Given the description of an element on the screen output the (x, y) to click on. 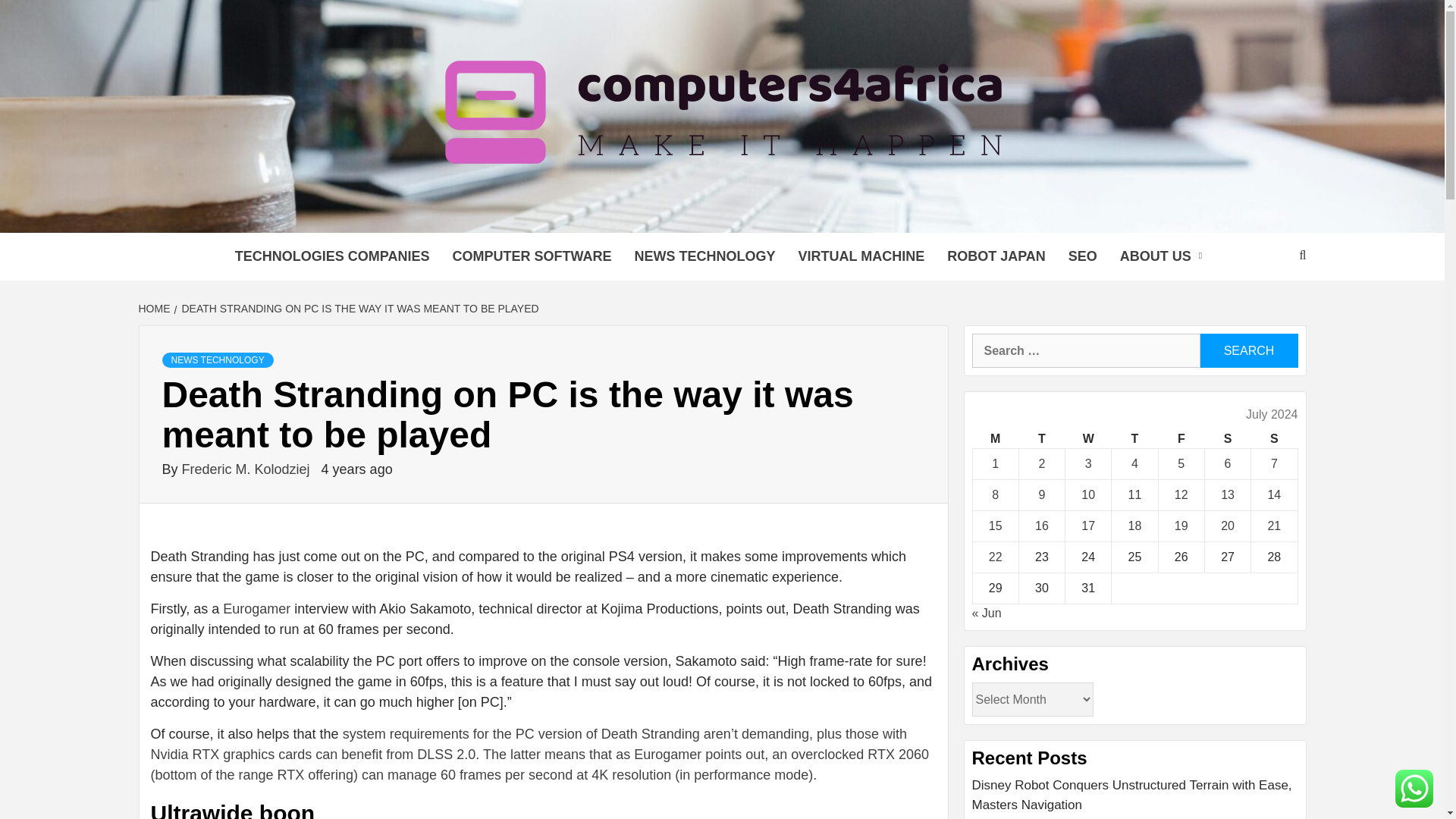
VIRTUAL MACHINE (861, 256)
ROBOT JAPAN (996, 256)
Friday (1180, 438)
Eurogamer (255, 608)
NEWS TECHNOLOGY (217, 359)
DEATH STRANDING ON PC IS THE WAY IT WAS MEANT TO BE PLAYED (358, 308)
Search (1248, 350)
Thursday (1134, 438)
Saturday (1227, 438)
Wednesday (1088, 438)
Search (1248, 350)
COMPUTER S4AFRICA (558, 213)
Sunday (1273, 438)
TECHNOLOGIES COMPANIES (332, 256)
